Given the description of an element on the screen output the (x, y) to click on. 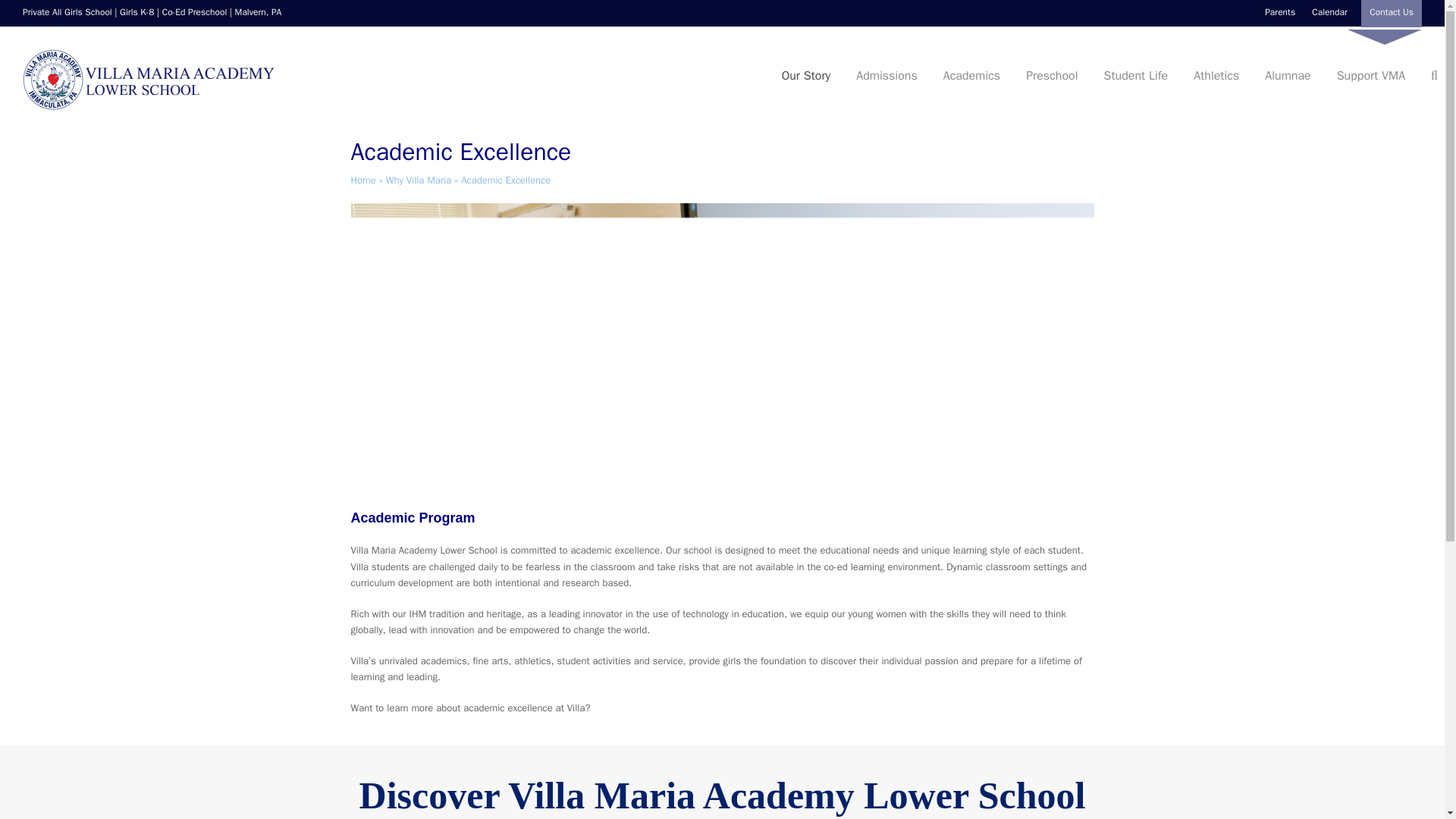
Parents (1280, 11)
Admissions (892, 75)
Academics (977, 75)
Calendar (1328, 11)
Our Story (812, 75)
Contact Us (1391, 13)
